Given the description of an element on the screen output the (x, y) to click on. 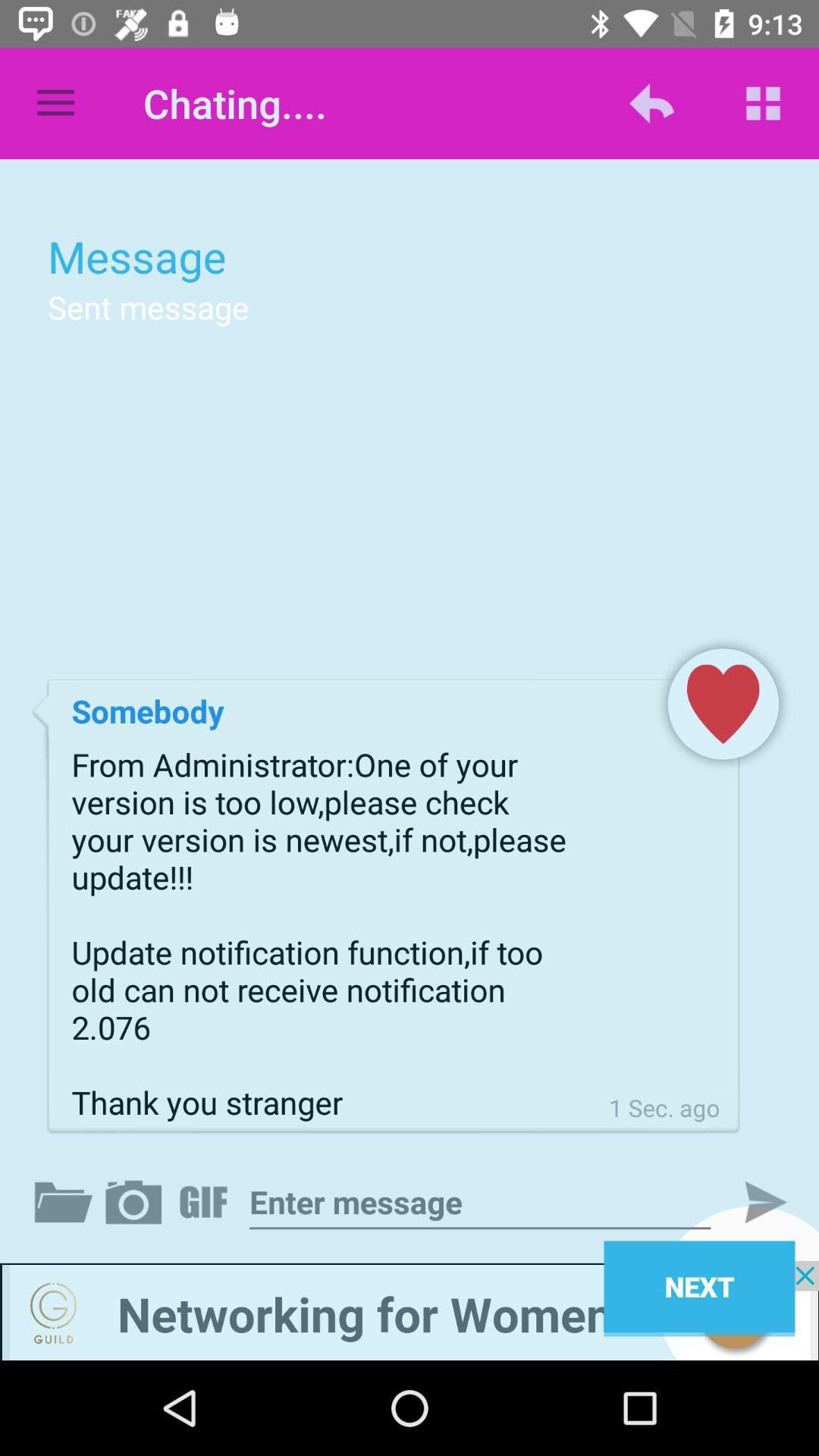
open folder (66, 1202)
